Given the description of an element on the screen output the (x, y) to click on. 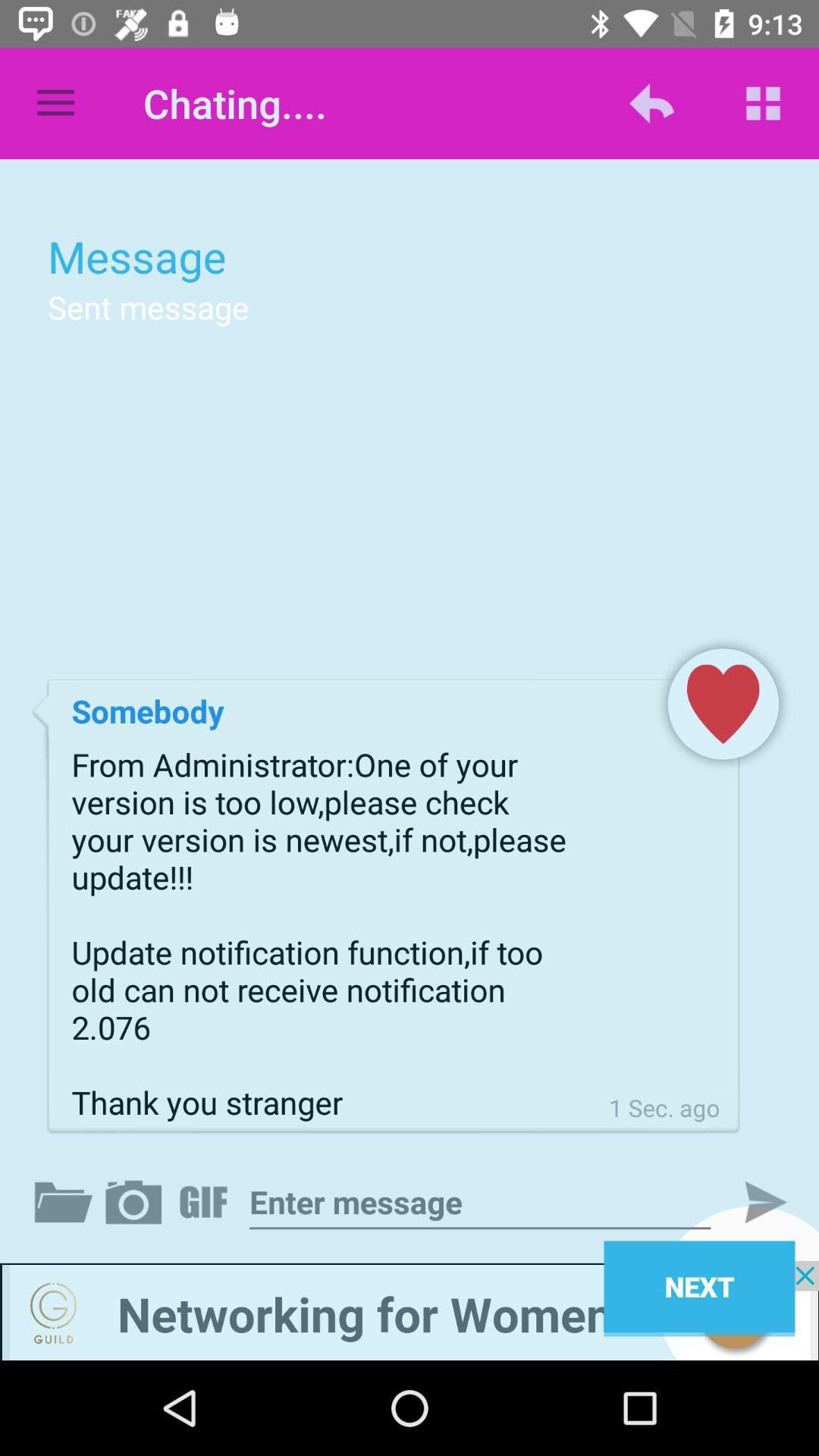
open folder (66, 1202)
